Given the description of an element on the screen output the (x, y) to click on. 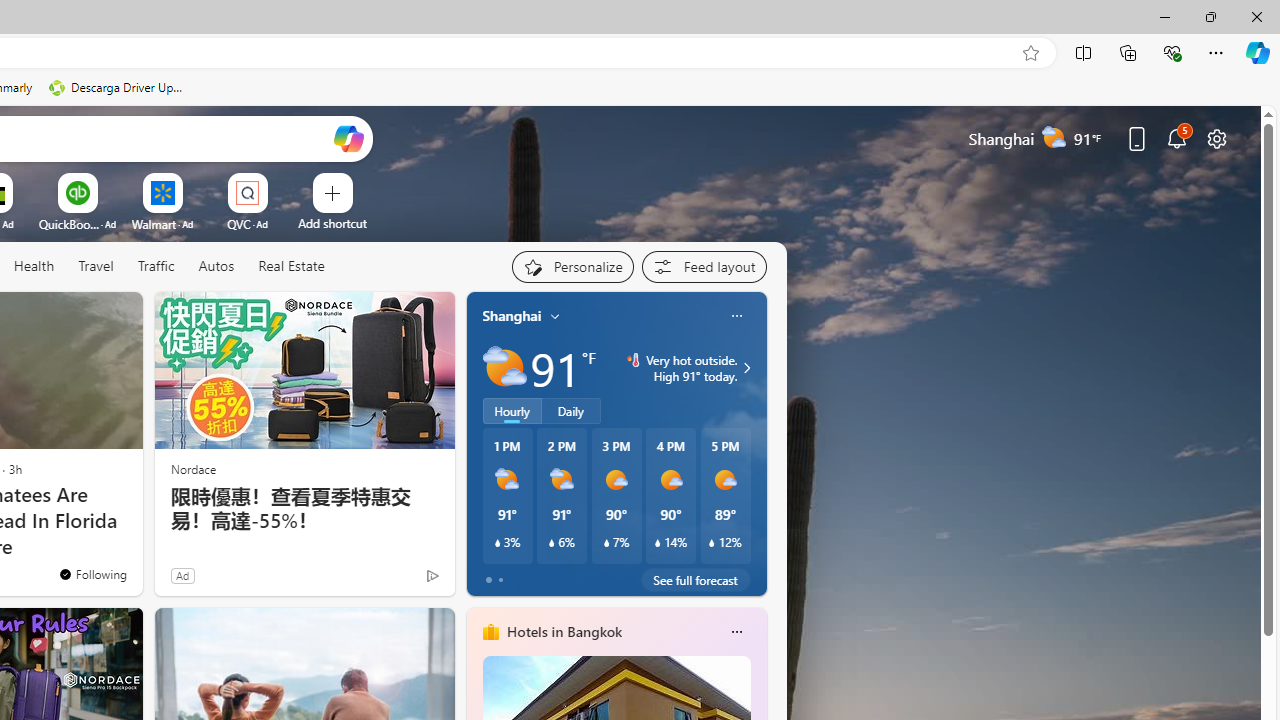
Daily (571, 411)
See full forecast (695, 579)
